Given the description of an element on the screen output the (x, y) to click on. 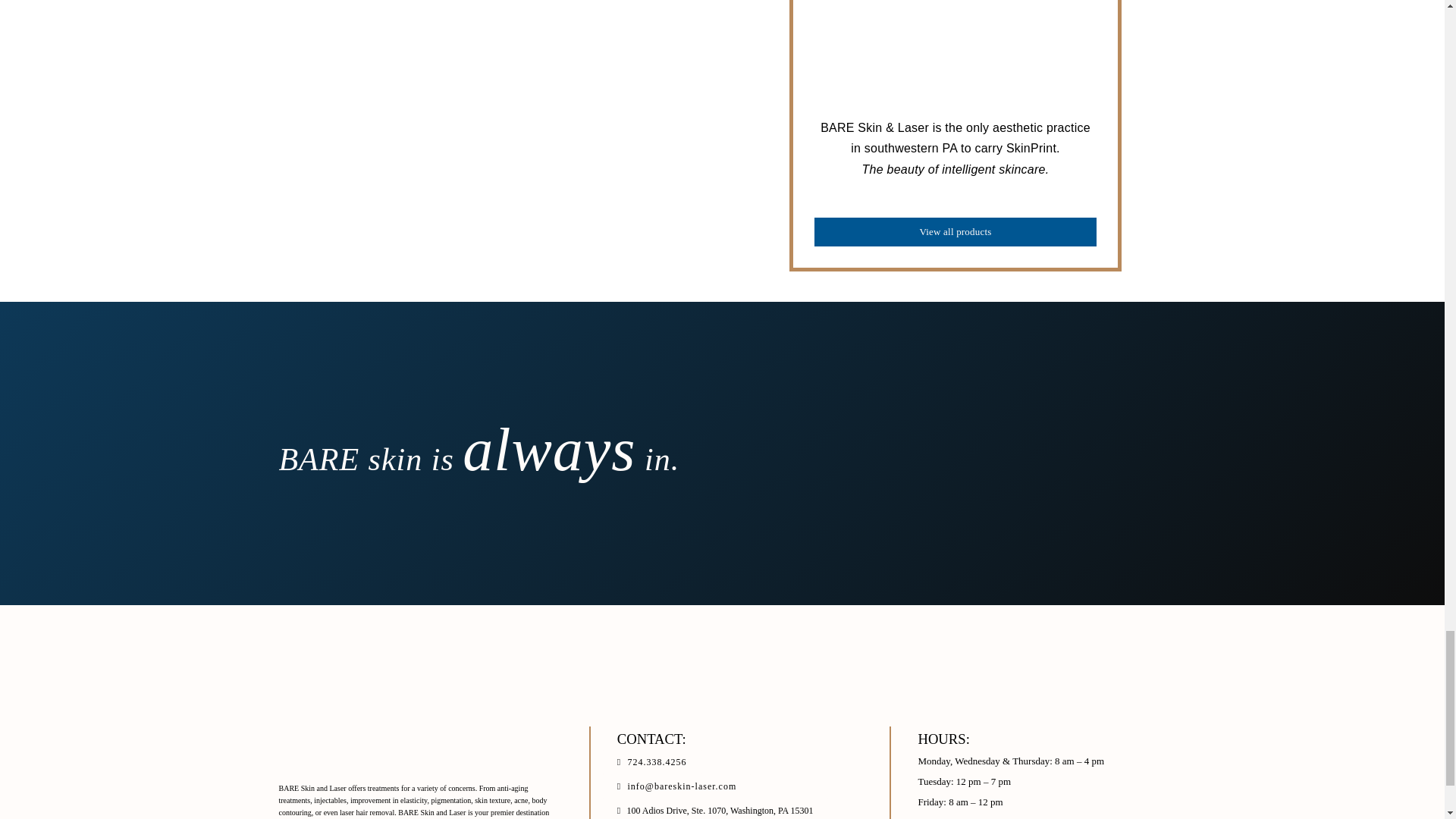
Products2 (537, 125)
skinprint-logo-2 (954, 58)
